Given the description of an element on the screen output the (x, y) to click on. 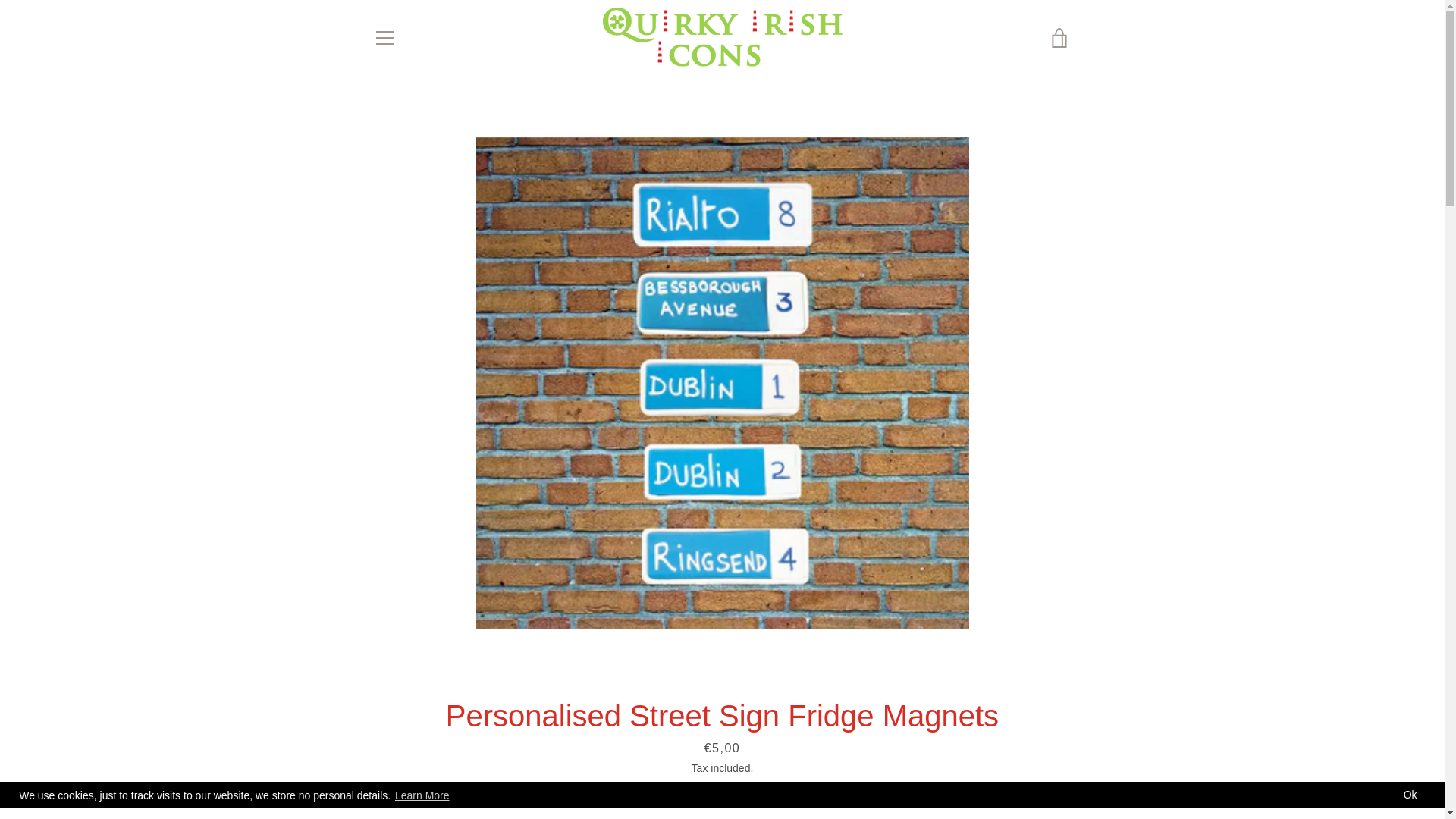
VIEW CART (1059, 37)
Apple Pay (918, 755)
Union Pay (1022, 778)
PayPal (1022, 755)
Mastercard (988, 755)
Quirky Irish Icons  on Instagram (424, 765)
American Express (883, 755)
Shop Pay (1057, 755)
Quirky Irish Icons  on Twitter (399, 765)
Quirky Irish Icons  on Facebook (372, 765)
Maestro (953, 755)
MENU (384, 37)
Visa (1057, 778)
